Given the description of an element on the screen output the (x, y) to click on. 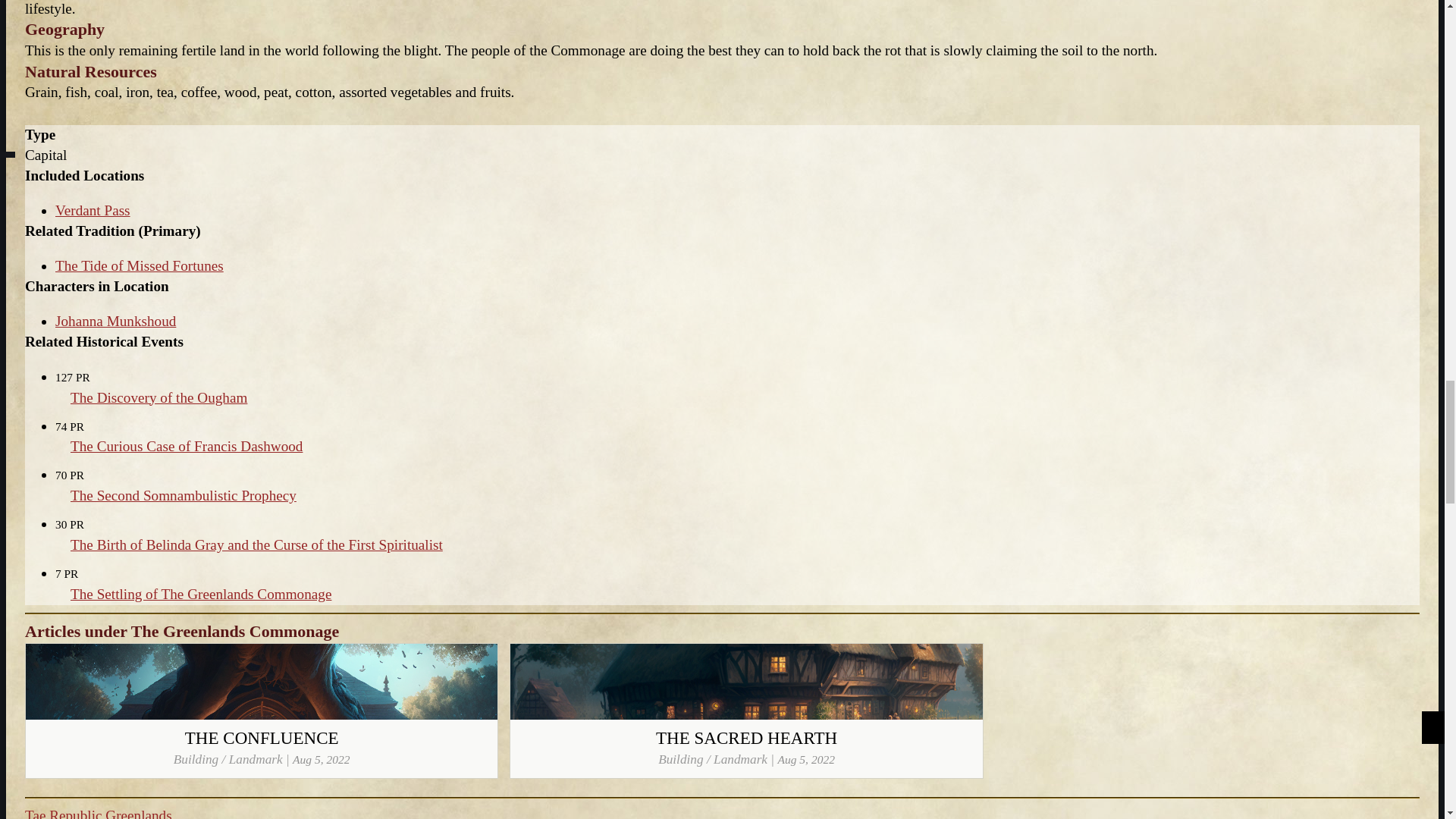
Tae Republic Greenlands (97, 813)
The Curious Case of Francis Dashwood (185, 446)
The Tide of Missed Fortunes (139, 265)
The Second Somnambulistic Prophecy (183, 495)
The Settling of The Greenlands Commonage (200, 593)
Verdant Pass (93, 210)
Johanna Munkshoud (115, 320)
The Discovery of the Ougham (158, 397)
